Given the description of an element on the screen output the (x, y) to click on. 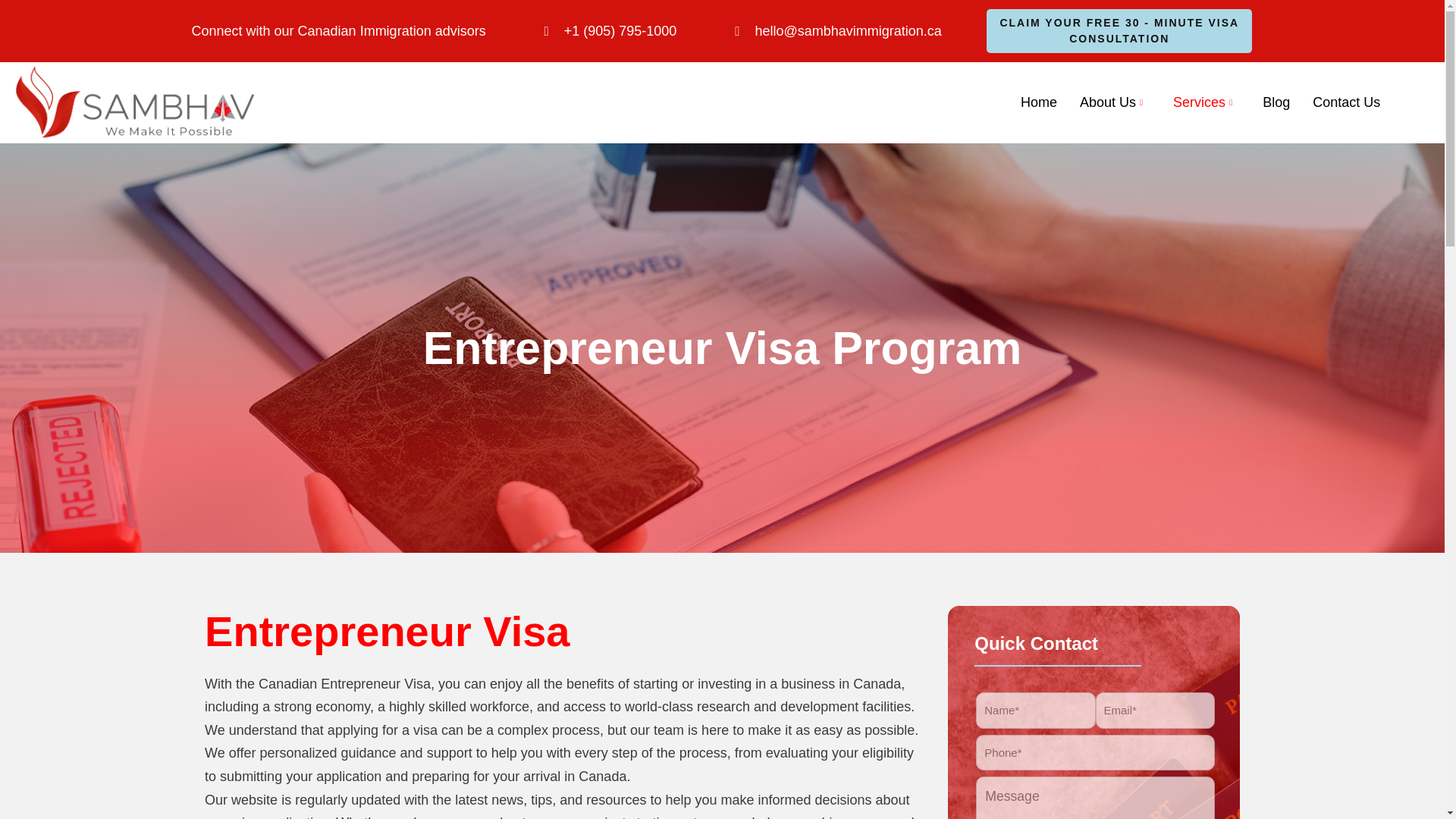
About Us (1114, 103)
Services (1205, 103)
CLAIM YOUR FREE 30 - MINUTE VISA CONSULTATION (1119, 31)
Blog (1275, 103)
Home (1038, 103)
Contact Us (1346, 103)
